Given the description of an element on the screen output the (x, y) to click on. 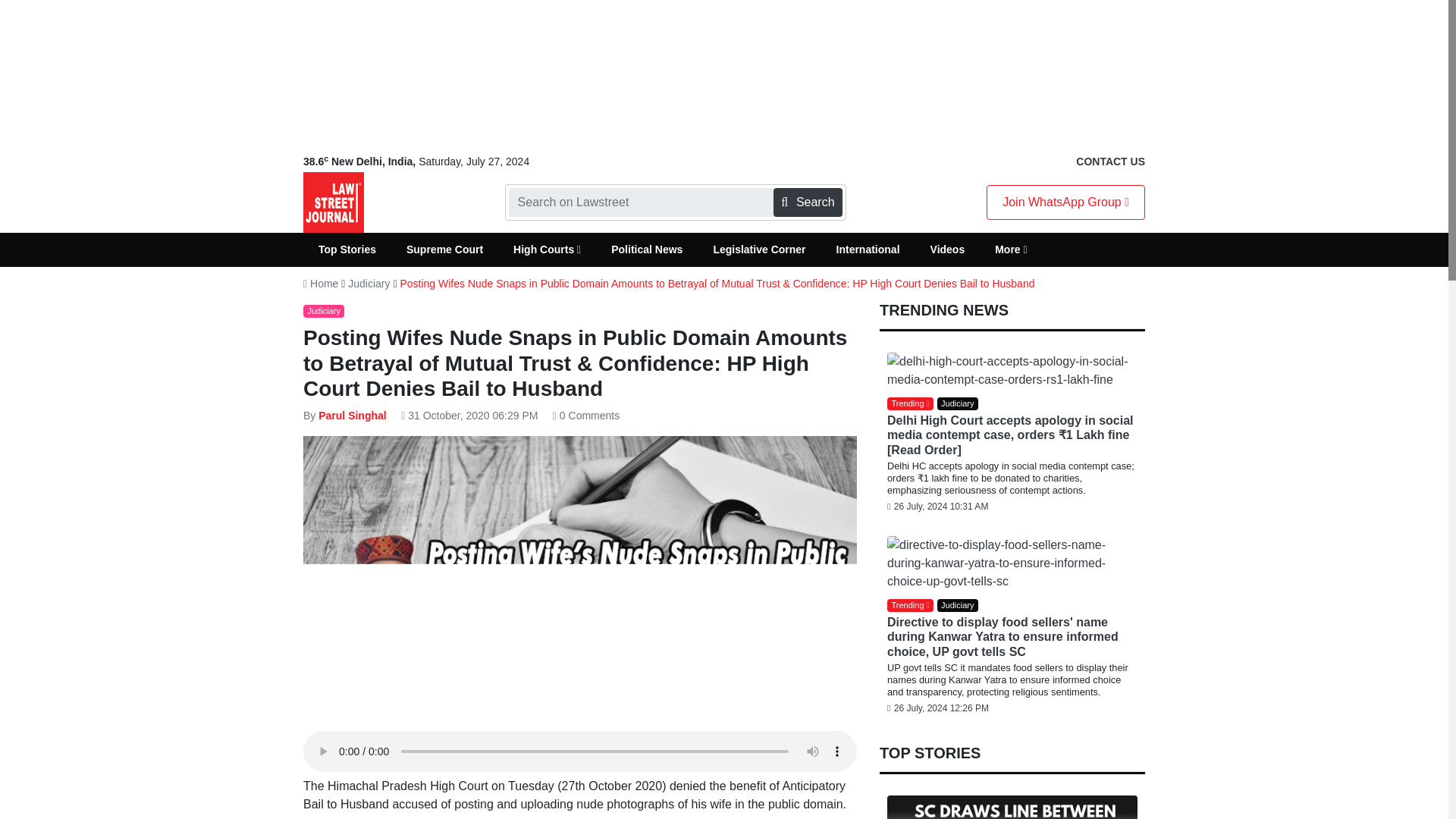
High Courts (546, 249)
Videos (947, 249)
Top Stories (346, 249)
Join WhatsApp Group (1065, 202)
Search (807, 202)
International (868, 249)
CONTACT US (1109, 161)
Supreme Court (444, 249)
More (1010, 249)
LawStreet Journal (333, 201)
Legislative Corner (759, 249)
Political News (646, 249)
